Given the description of an element on the screen output the (x, y) to click on. 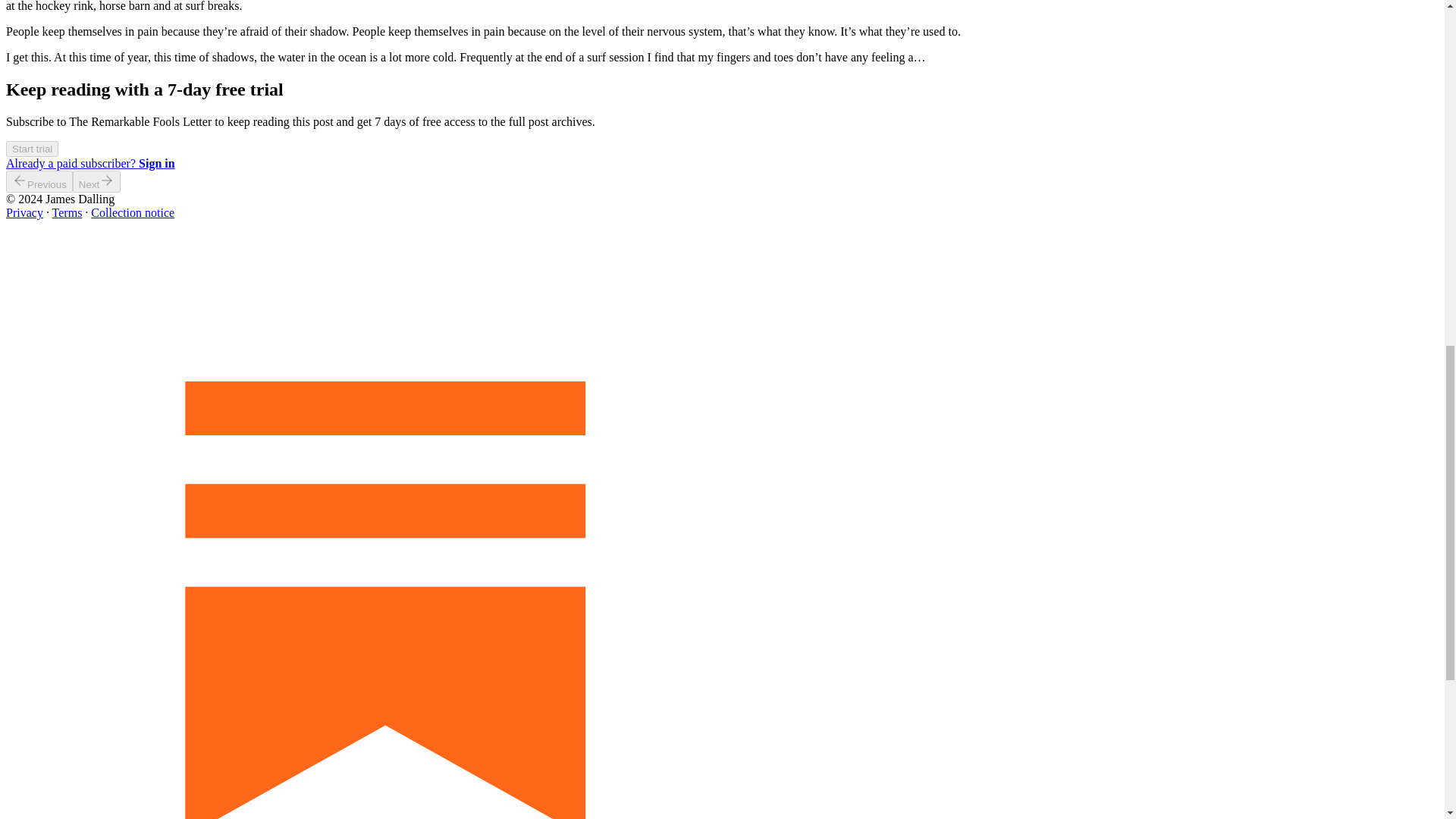
Next (96, 181)
Start trial (31, 147)
Already a paid subscriber? Sign in (89, 163)
Collection notice (132, 212)
Terms (67, 212)
Previous (38, 181)
Privacy (24, 212)
Start trial (31, 148)
